Given the description of an element on the screen output the (x, y) to click on. 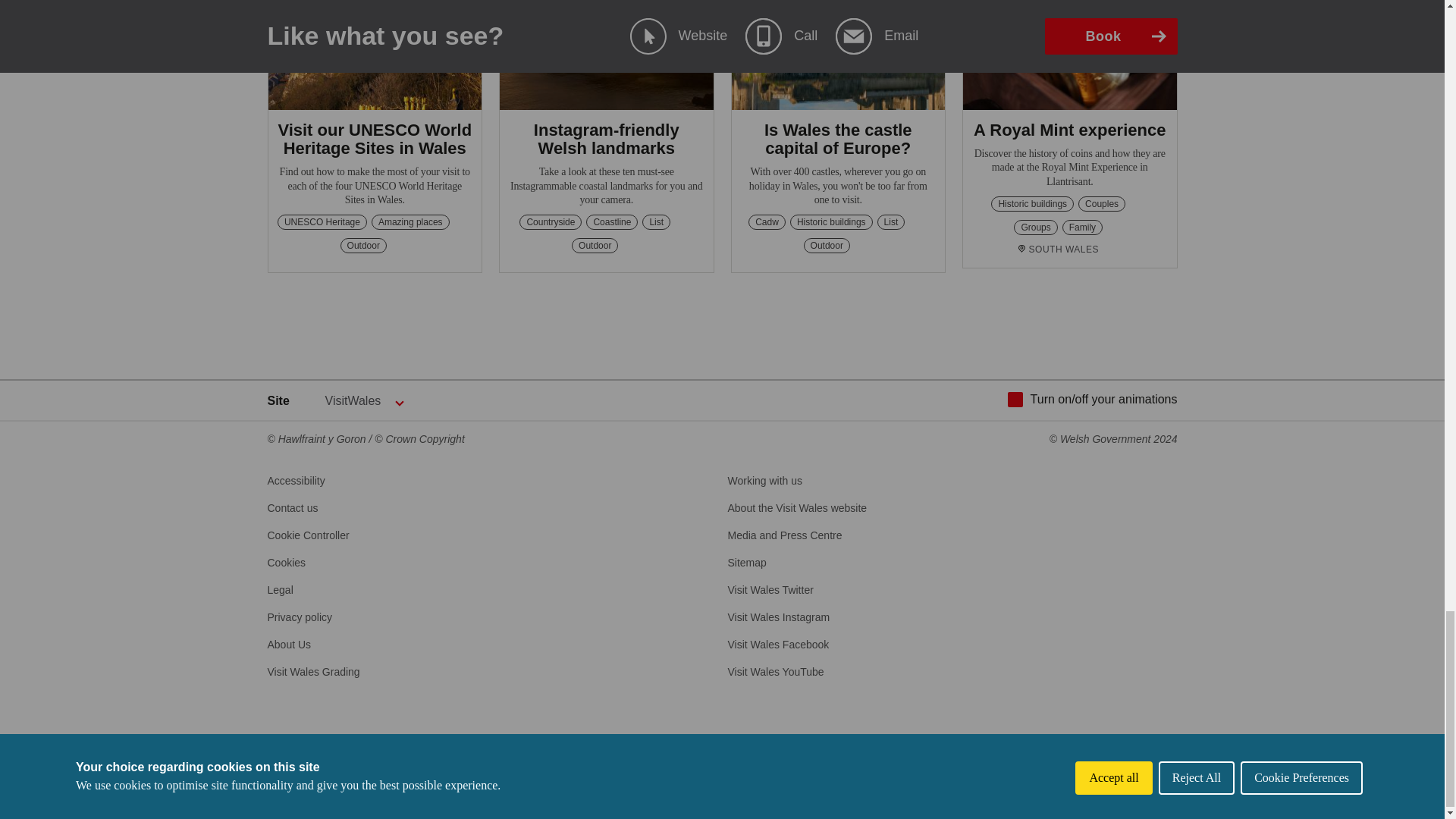
Visit our UNESCO World Heritage Sites in Wales (374, 139)
Amazing places (410, 222)
UNESCO Heritage (322, 222)
